Given the description of an element on the screen output the (x, y) to click on. 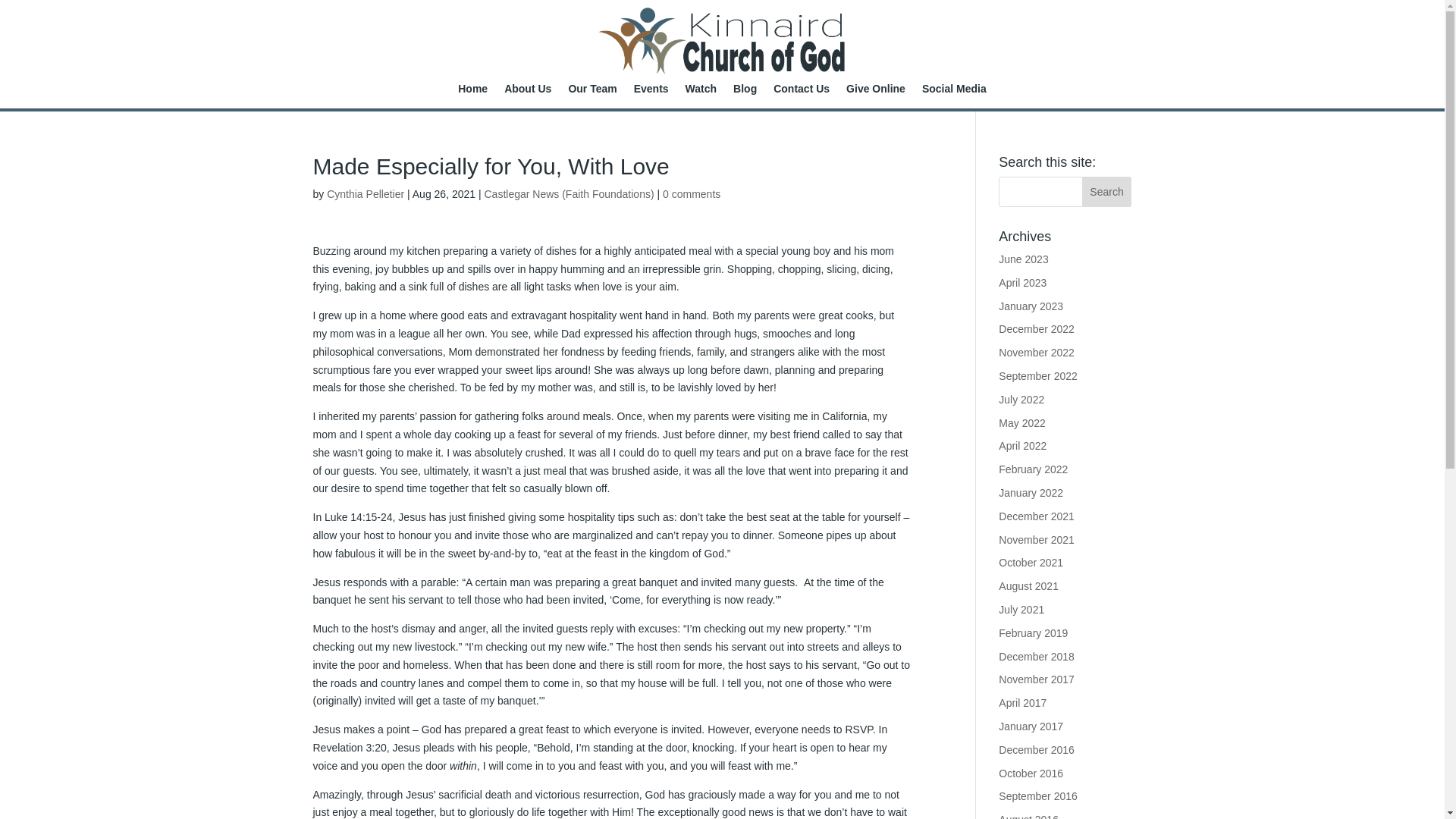
December 2021 (1036, 516)
Blog (745, 95)
Watch (700, 95)
0 comments (691, 193)
November 2022 (1036, 352)
April 2022 (1022, 445)
Contact Us (801, 95)
May 2022 (1021, 422)
February 2022 (1032, 469)
Social Media (954, 95)
